Given the description of an element on the screen output the (x, y) to click on. 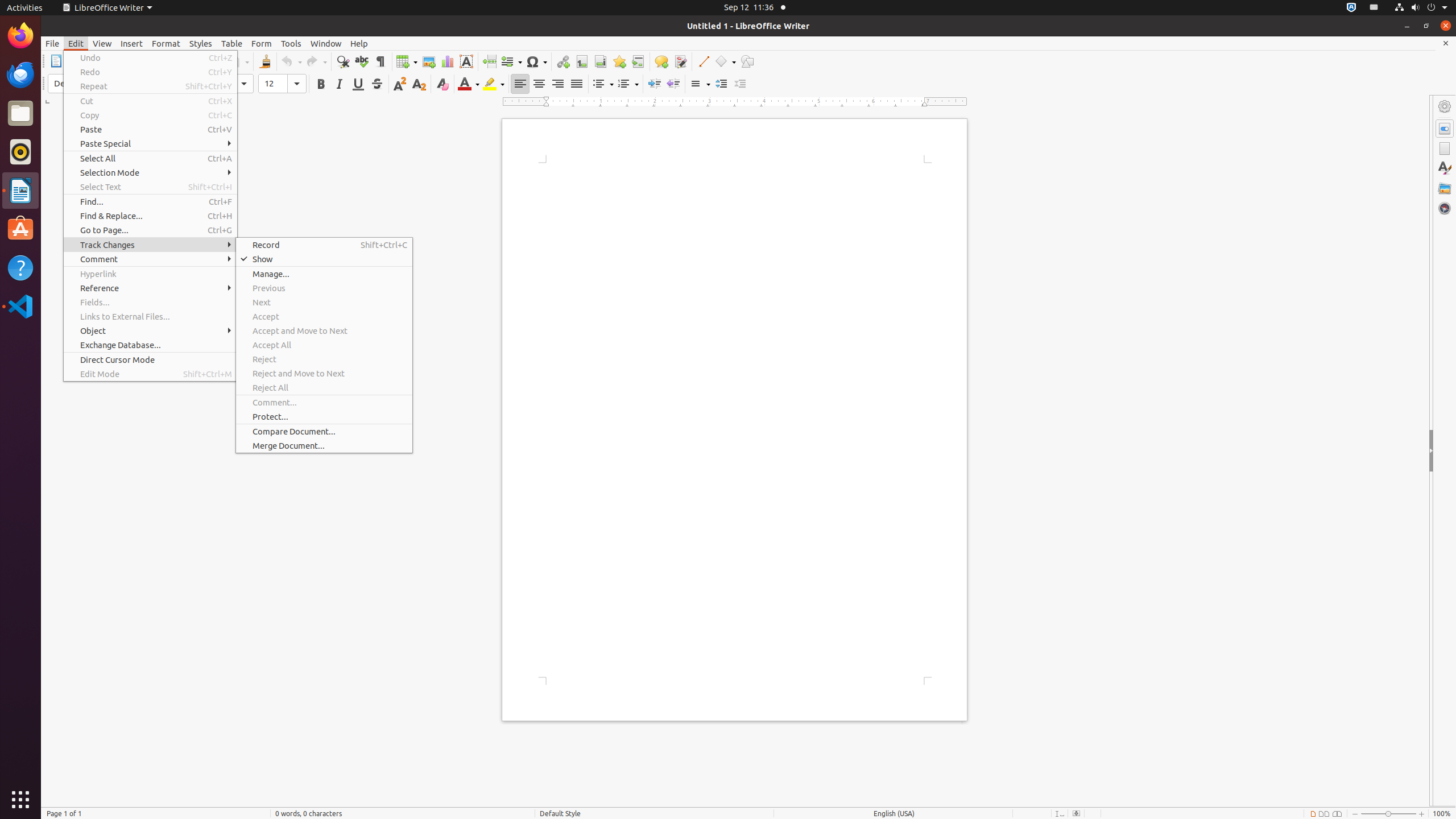
Bullets Element type: push-button (602, 83)
Repeat Element type: menu-item (150, 86)
Go to Page... Element type: menu-item (150, 229)
Italic Element type: toggle-button (338, 83)
Thunderbird Mail Element type: push-button (20, 74)
